Given the description of an element on the screen output the (x, y) to click on. 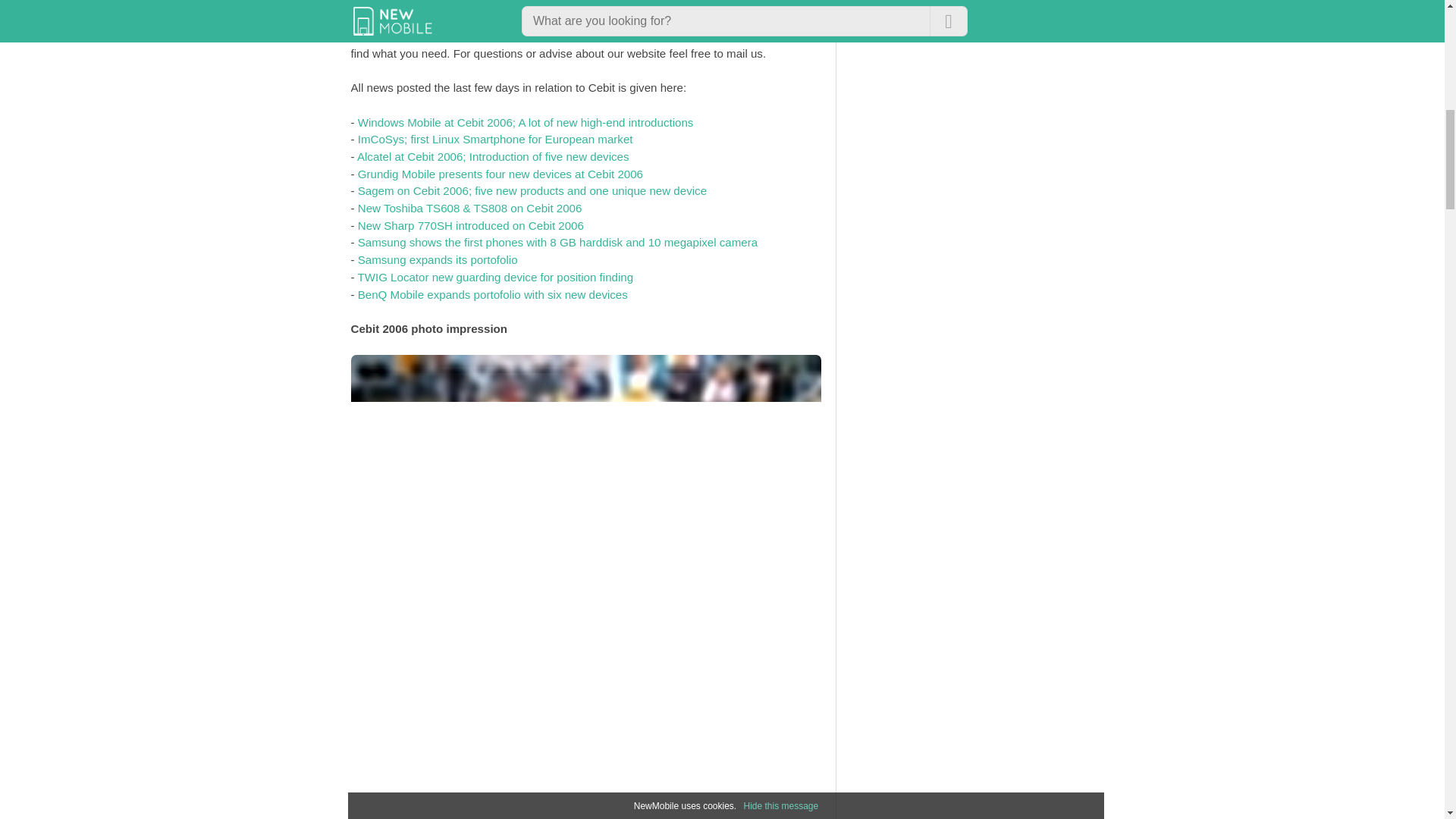
ImCoSys; first Linux Smartphone for European market (495, 138)
TWIG Locator new guarding device for position finding (494, 277)
Grundig Mobile presents four new devices at Cebit 2006 (500, 173)
Advertisement (805, 764)
Alcatel at Cebit 2006; Introduction of five new devices (492, 155)
New Sharp 770SH introduced on Cebit 2006 (470, 225)
Samsung expands its portofolio (438, 259)
